Given the description of an element on the screen output the (x, y) to click on. 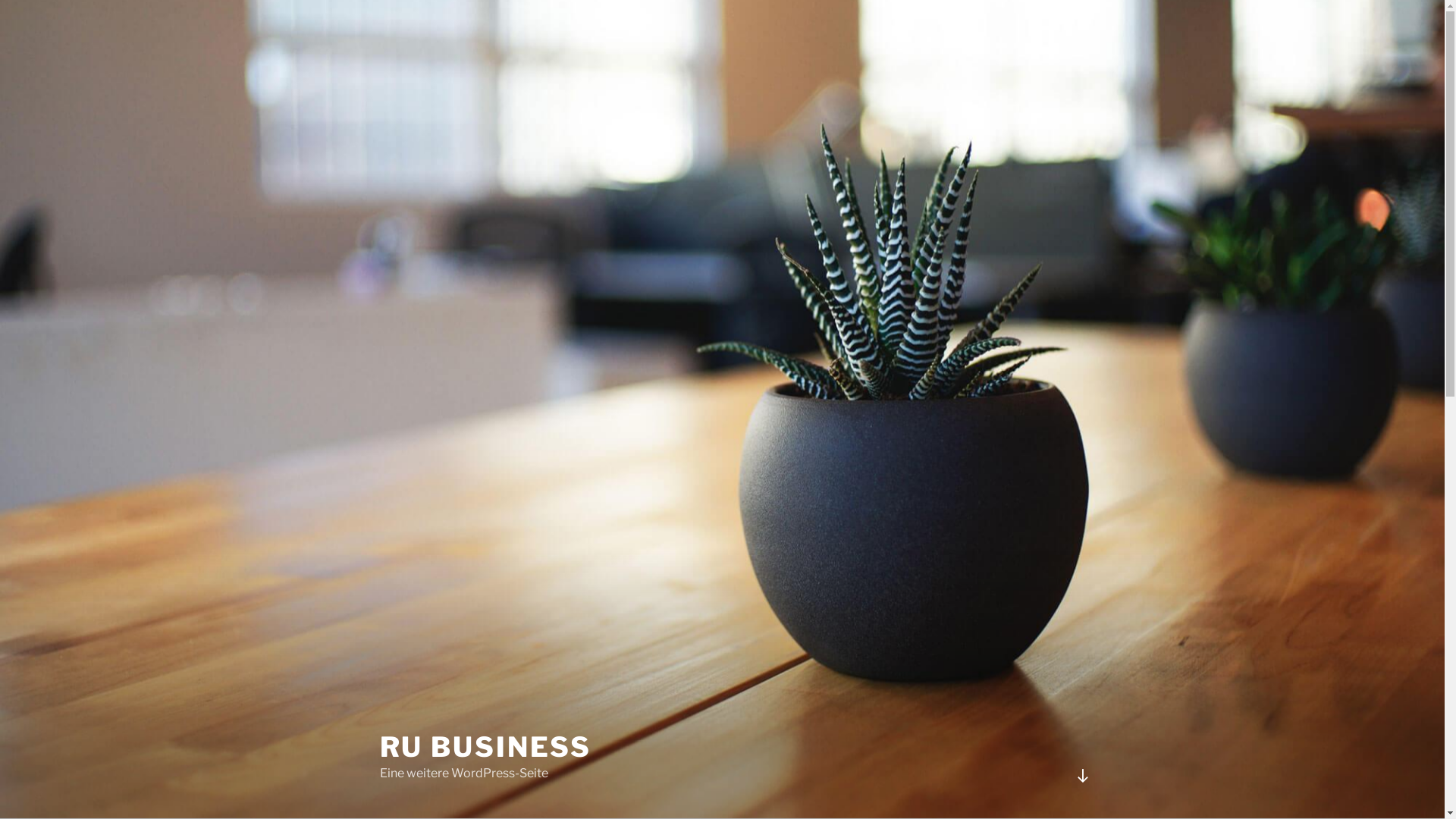
Zum Inhalt nach unten scrollen Element type: text (1082, 775)
RU BUSINESS Element type: text (485, 746)
